Given the description of an element on the screen output the (x, y) to click on. 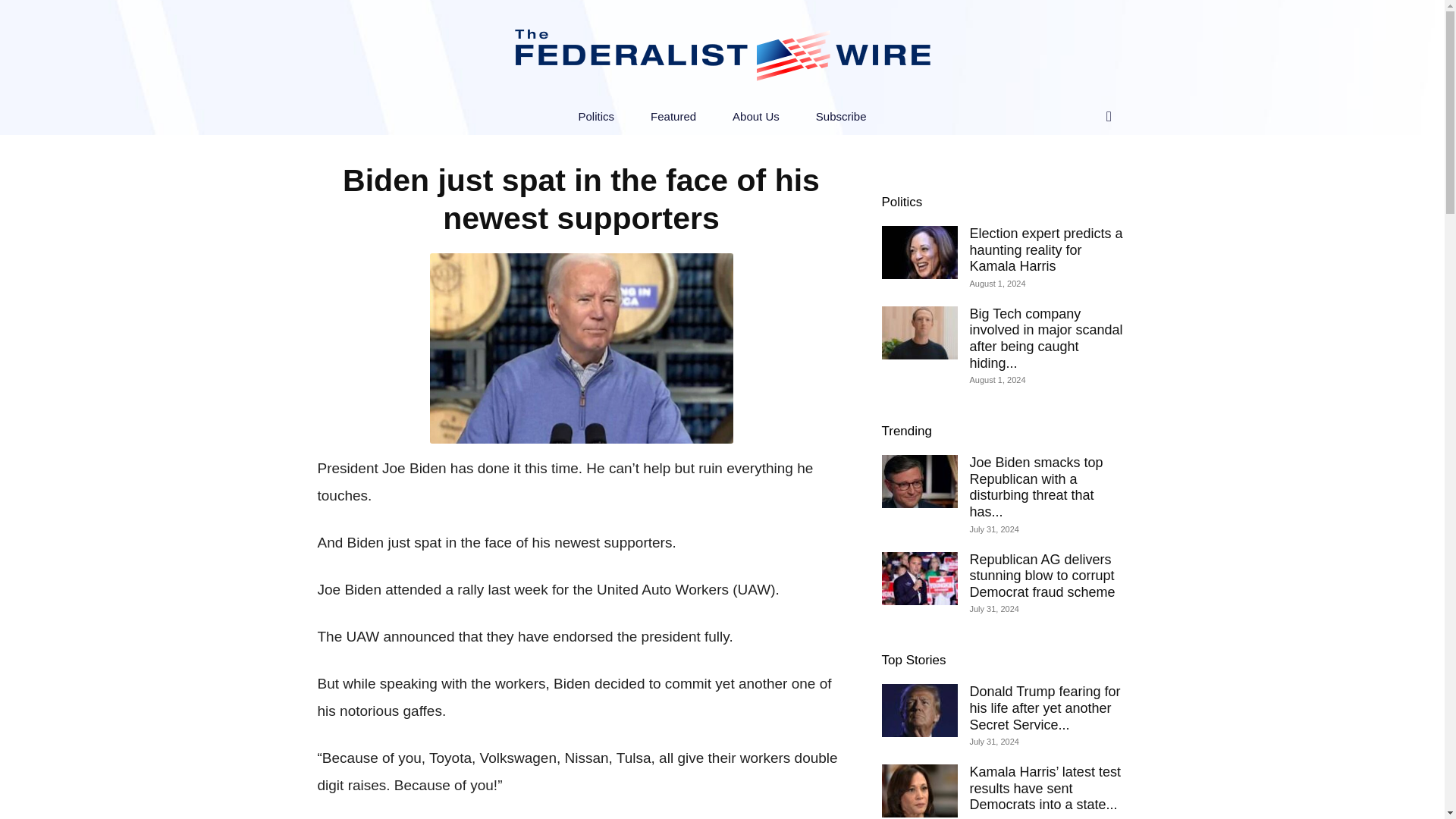
Politics (596, 116)
Search (1077, 177)
Politics (900, 201)
Subscribe (841, 116)
About Us (755, 116)
Featured (672, 116)
joe biden (580, 348)
